Given the description of an element on the screen output the (x, y) to click on. 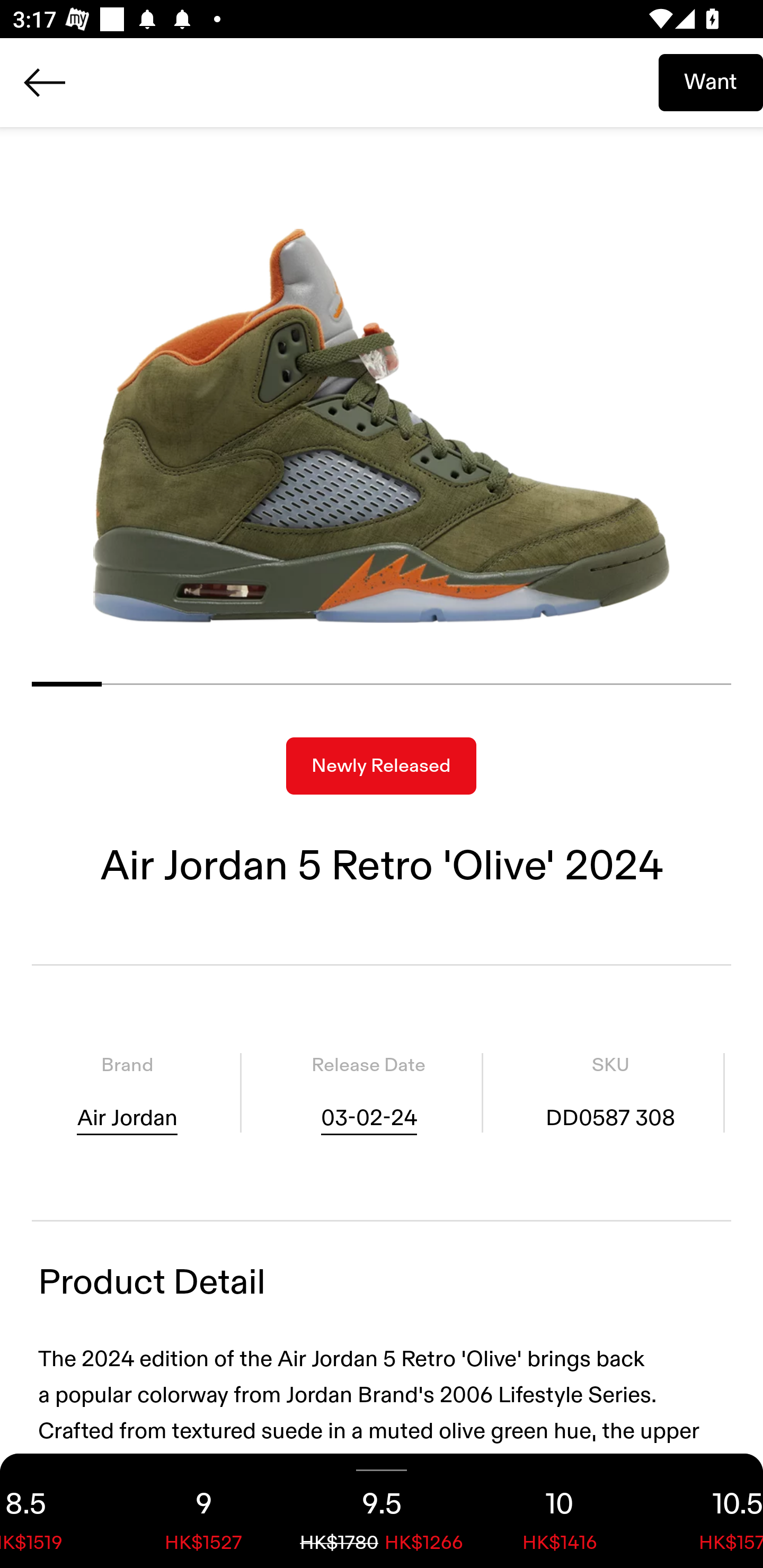
Want (710, 82)
Newly Released (381, 765)
Brand Air Jordan (126, 1092)
Release Date 03-02-24 (368, 1092)
SKU DD0587 308 (609, 1092)
8.5 HK$1519 (57, 1510)
9 HK$1527 (203, 1510)
9.5 HK$1780 HK$1266 (381, 1510)
10 HK$1416 (559, 1510)
10.5 HK$1574 (705, 1510)
